Given the description of an element on the screen output the (x, y) to click on. 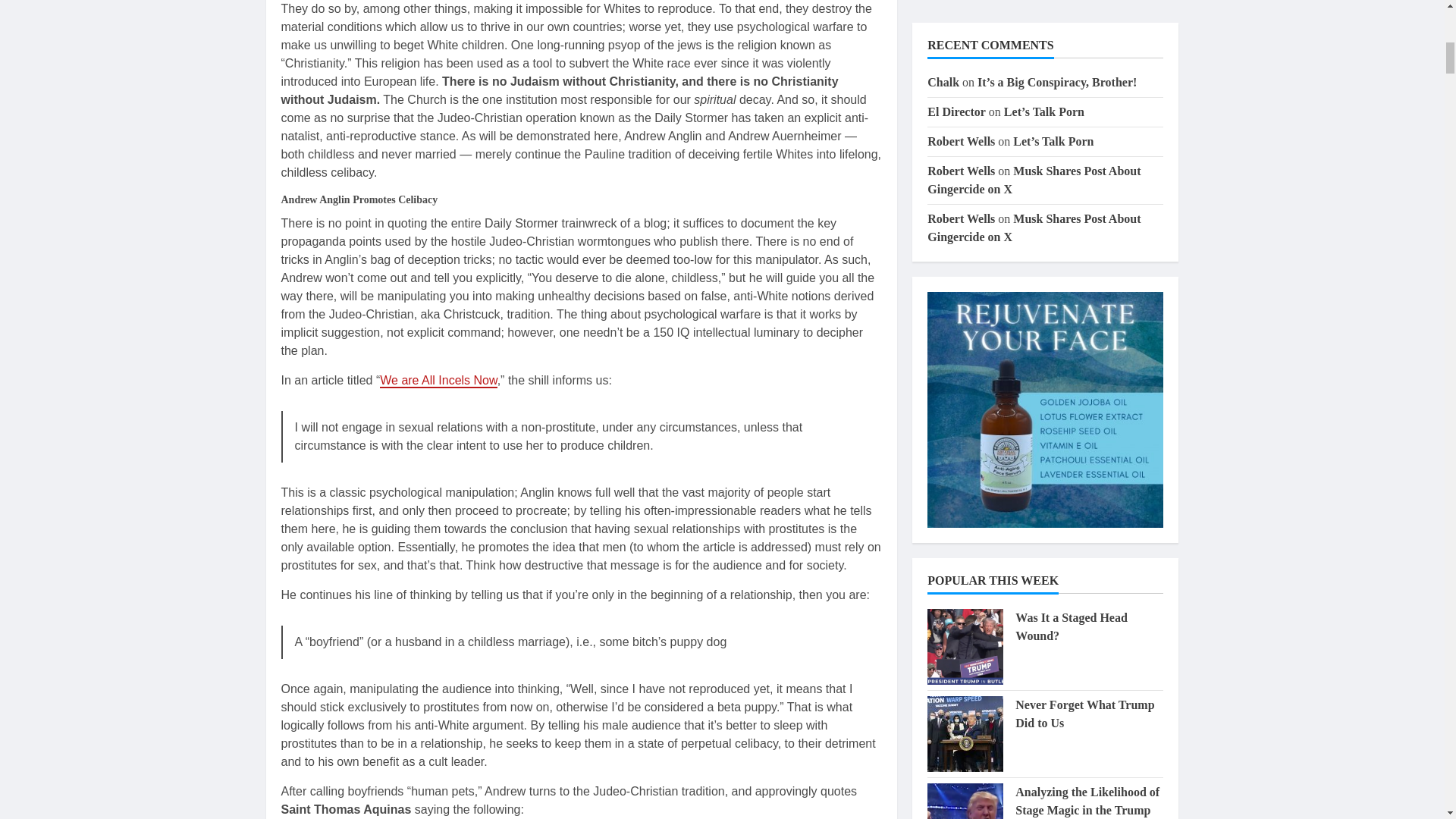
We are All Incels Now (438, 380)
